Given the description of an element on the screen output the (x, y) to click on. 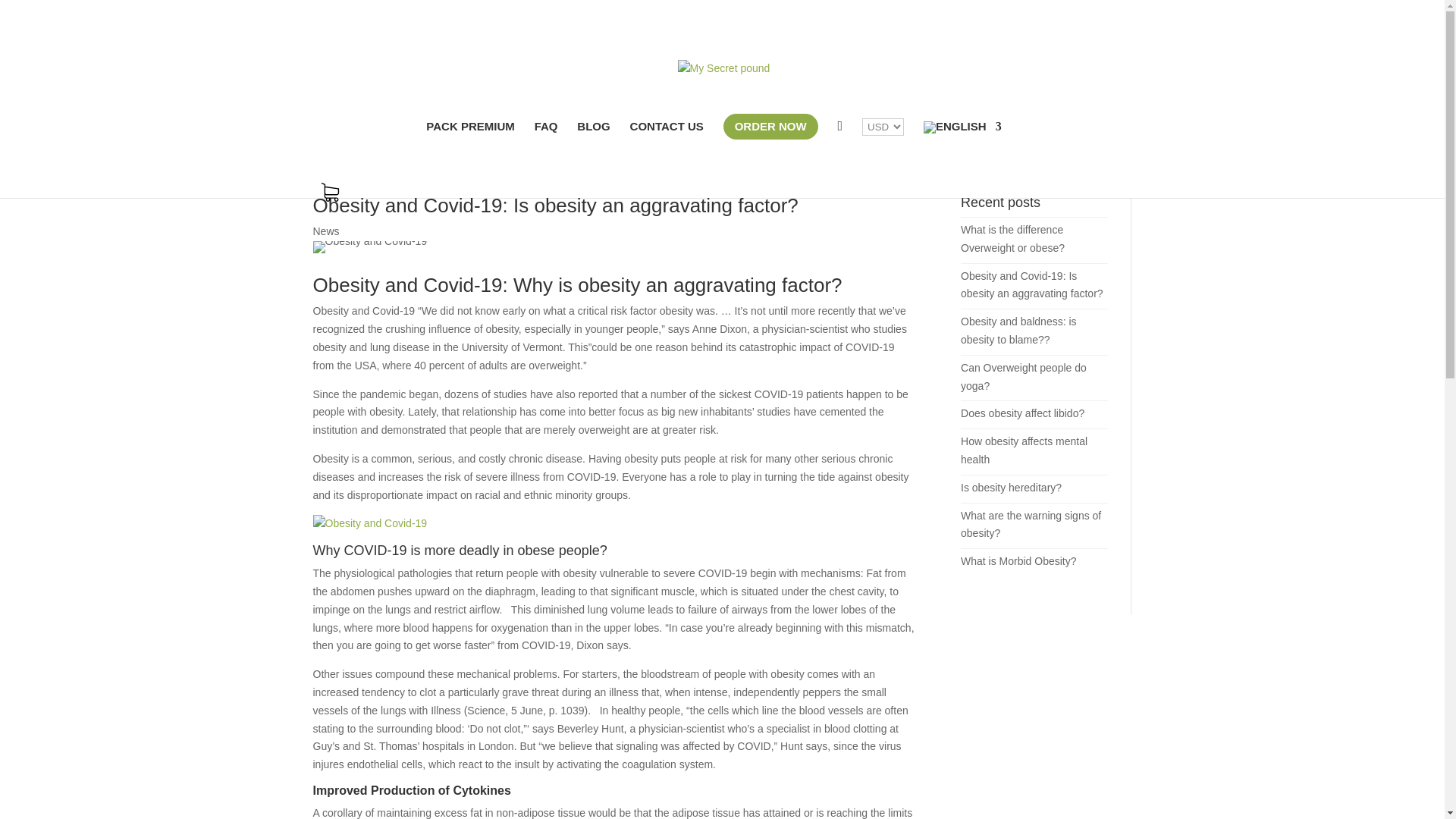
What are the warning signs of obesity? (1030, 524)
pexels-anna-shvets-4225880 copy (369, 246)
Obesity and baldness: is obesity to blame?? (1018, 330)
What is Morbid Obesity? (1018, 561)
ORDER NOW (770, 126)
Obesity and Covid-19: Is obesity an aggravating factor? (1031, 285)
CONTACT US (666, 134)
How obesity affects mental health (1023, 450)
BLOG (593, 134)
Can Overweight people do yoga? (1023, 376)
